Given the description of an element on the screen output the (x, y) to click on. 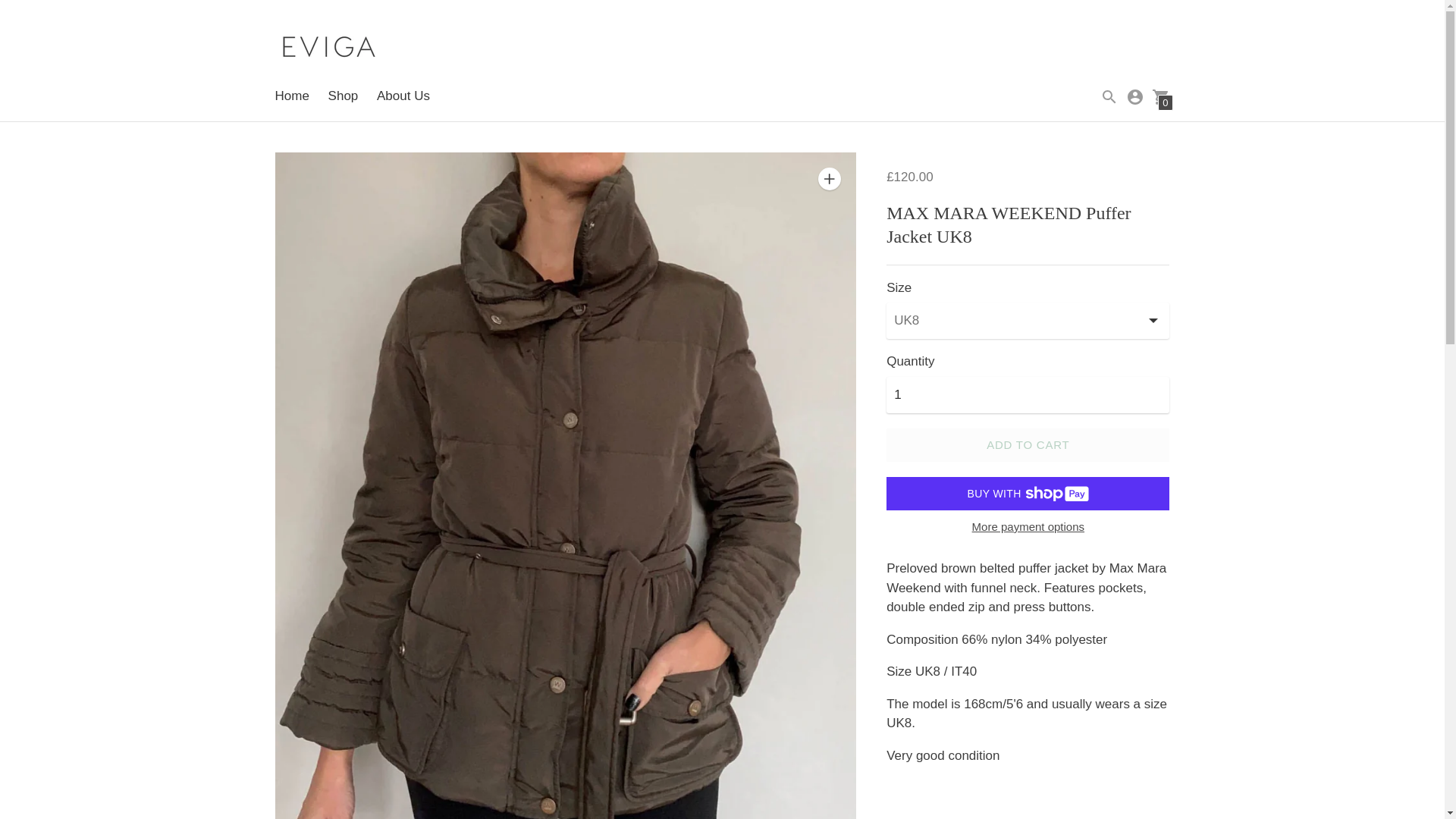
0 (1160, 95)
1 (1027, 394)
Shop (343, 95)
About Us (403, 95)
Home (291, 95)
